Given the description of an element on the screen output the (x, y) to click on. 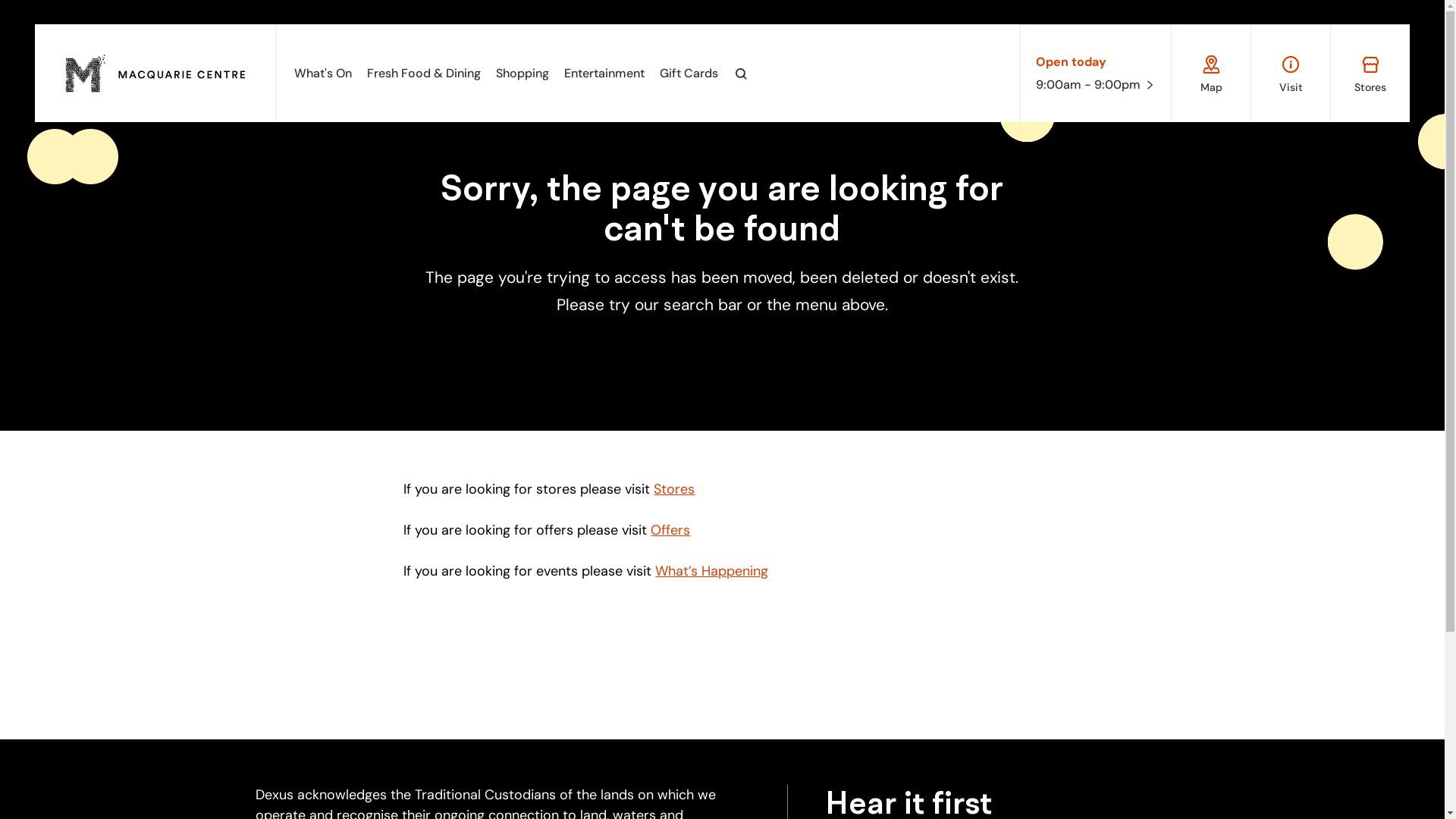
Stores Element type: text (673, 489)
Offers Element type: text (670, 529)
Stores Element type: text (1370, 73)
Visit Element type: text (1290, 73)
What's On Element type: text (322, 73)
Gift Cards Element type: text (688, 73)
Map Element type: text (1210, 73)
Open today
9:00am - 9:00pm Element type: text (1095, 73)
Entertainment Element type: text (604, 73)
Fresh Food & Dining Element type: text (423, 73)
Shopping Element type: text (522, 73)
